Given the description of an element on the screen output the (x, y) to click on. 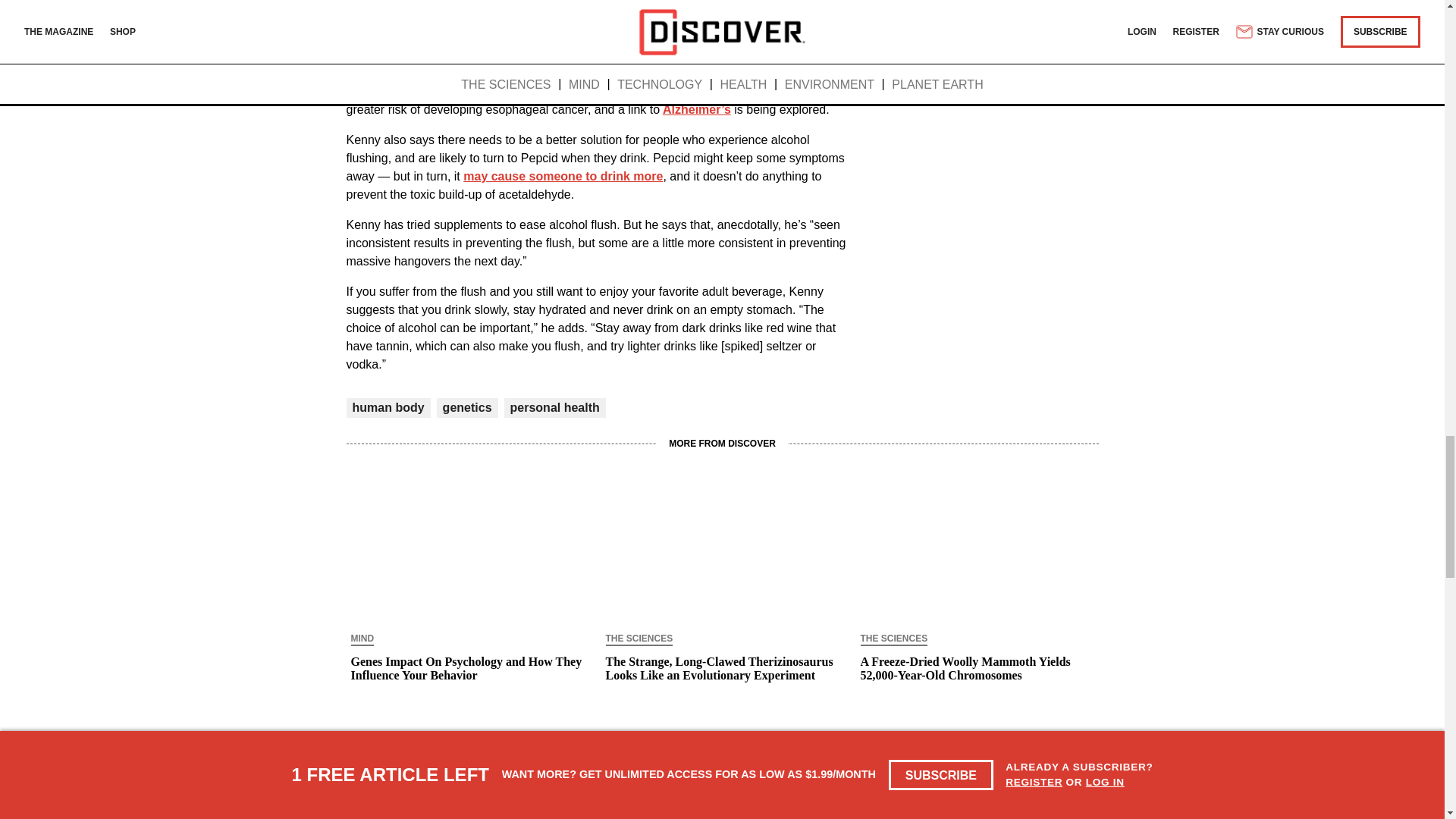
may cause someone to drink more (561, 175)
YouTube channel (599, 72)
personal health (555, 407)
genetics (467, 407)
human body (387, 407)
red flag for other potential diseases. (450, 91)
